Given the description of an element on the screen output the (x, y) to click on. 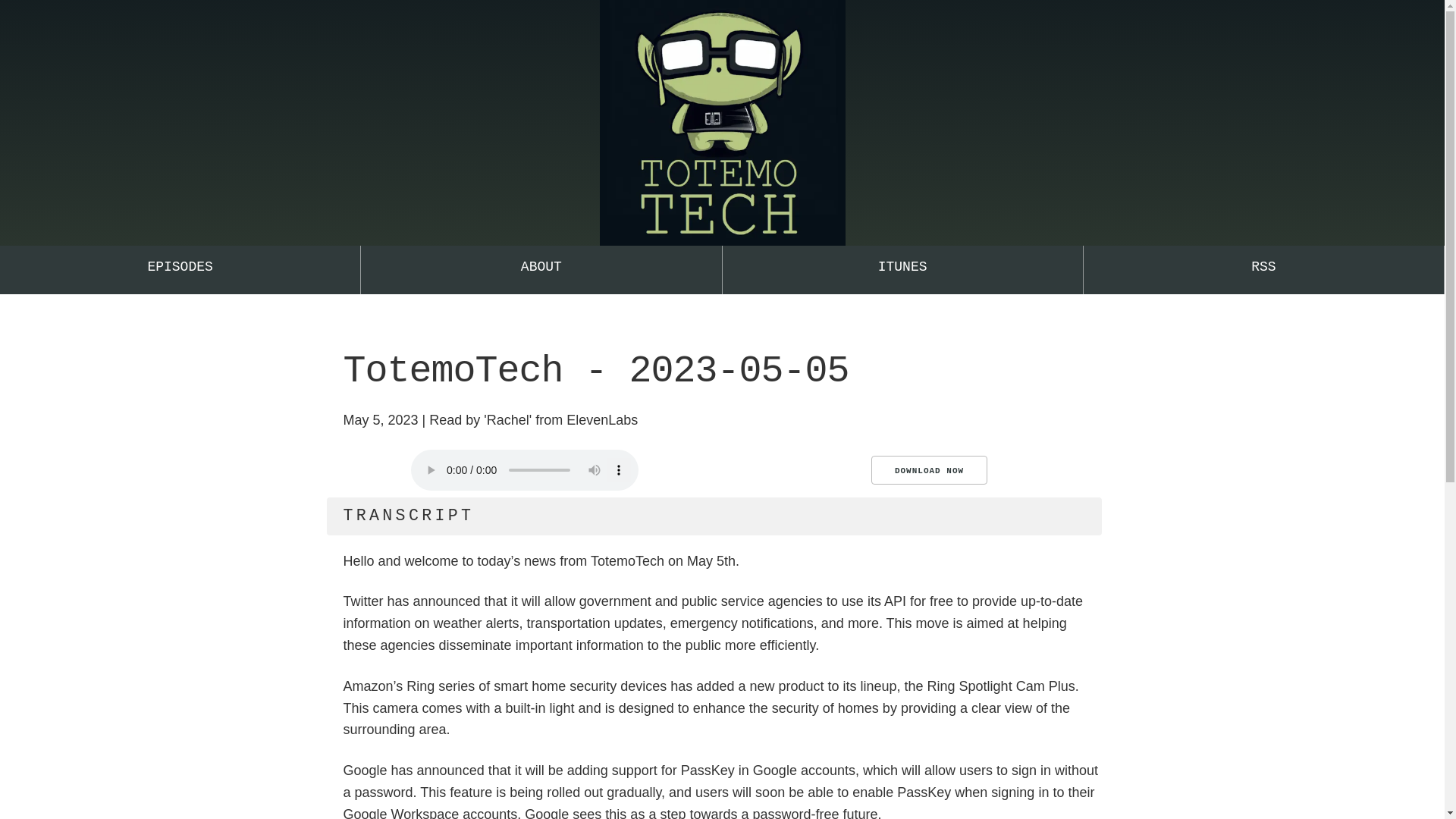
ABOUT (540, 269)
DOWNLOAD NOW (928, 469)
RSS (1263, 269)
EPISODES (179, 269)
ITUNES (901, 269)
